Given the description of an element on the screen output the (x, y) to click on. 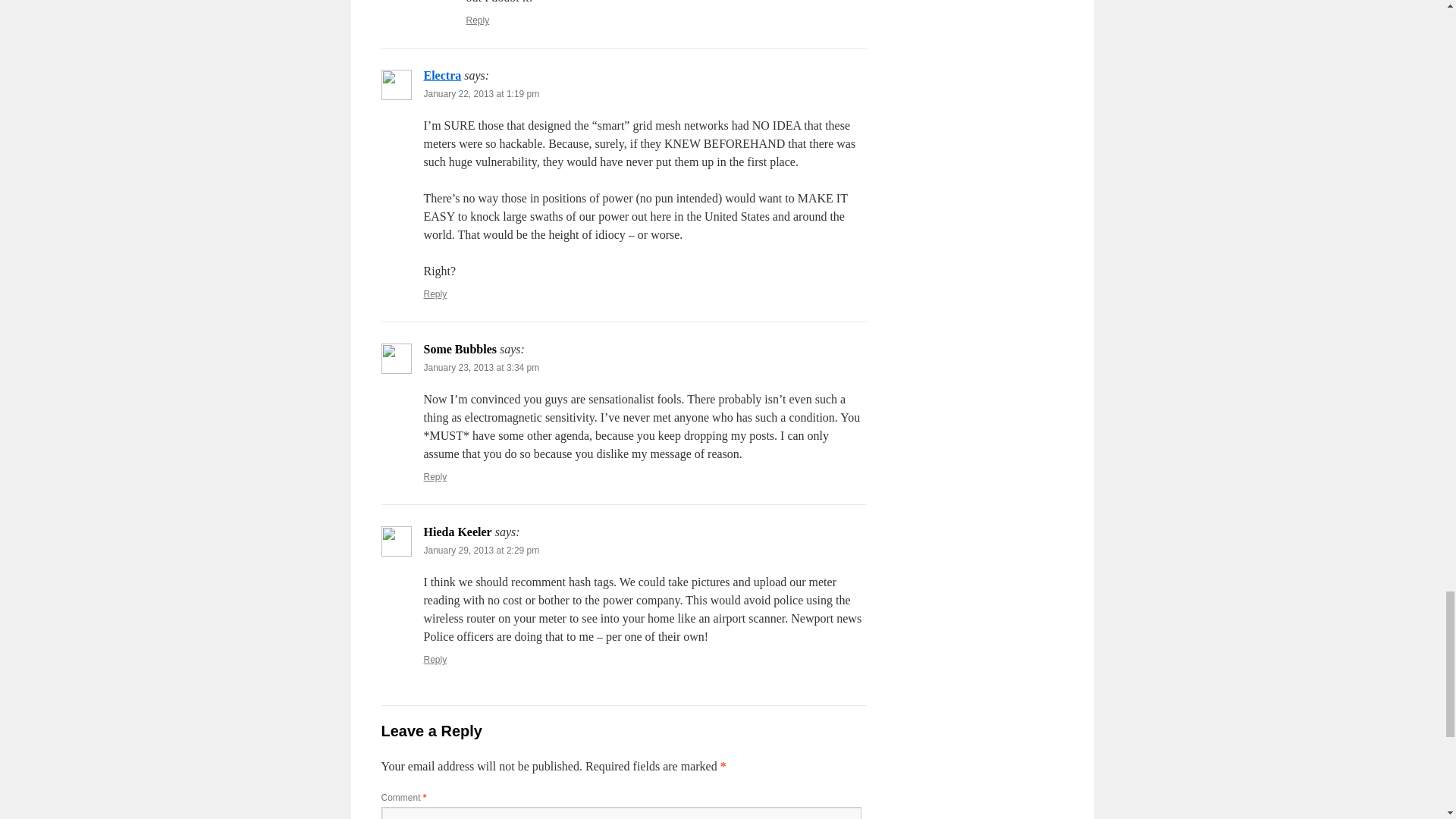
Reply (434, 294)
January 22, 2013 at 1:19 pm (480, 93)
Electra (442, 74)
Reply (477, 20)
January 23, 2013 at 3:34 pm (480, 367)
